Given the description of an element on the screen output the (x, y) to click on. 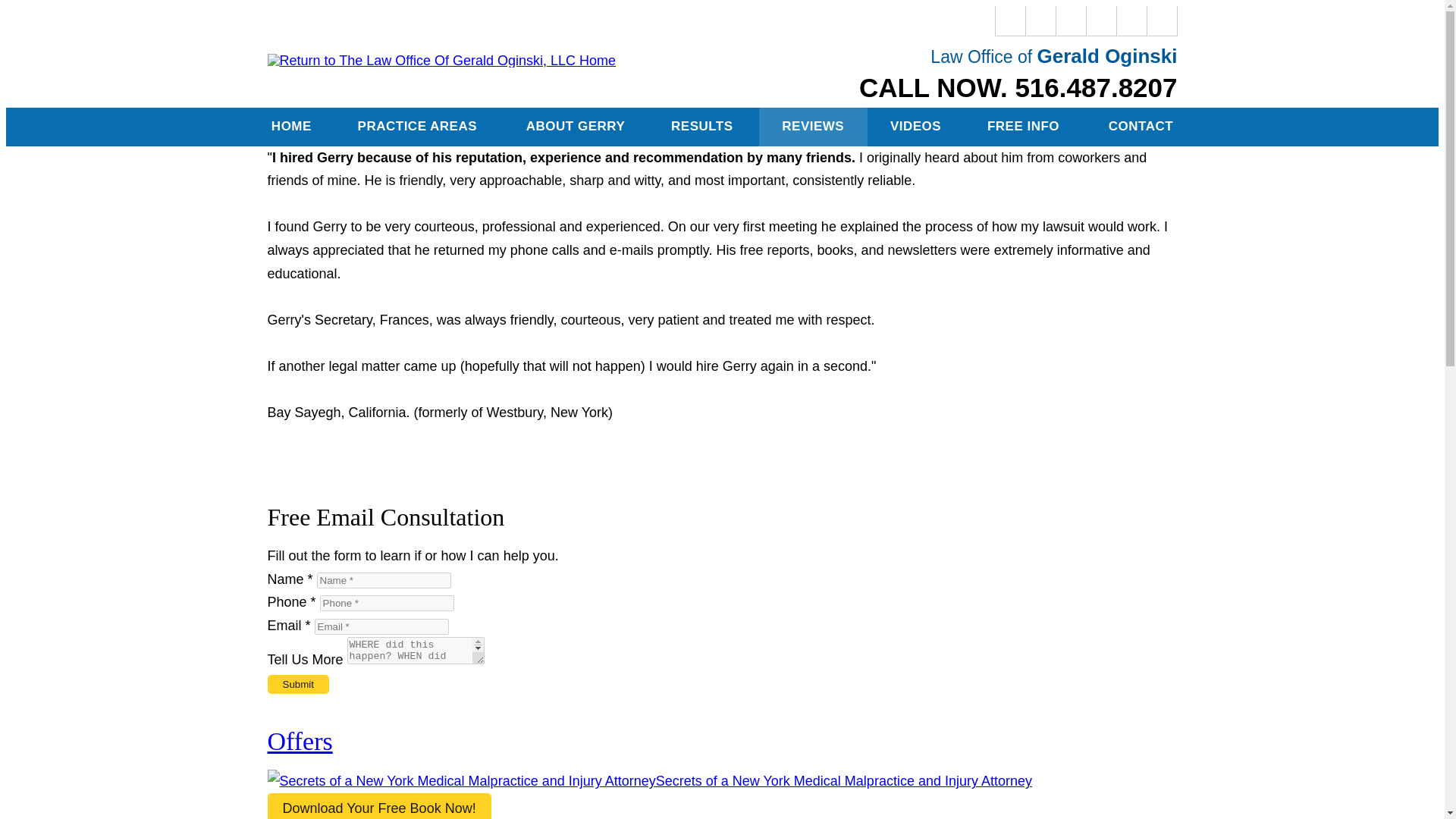
RESULTS (702, 126)
ABOUT GERRY (574, 126)
Search (1161, 20)
FREE INFO (1024, 126)
REVIEWS (812, 126)
PRACTICE AREAS (418, 126)
CONTACT (1139, 126)
HOME (291, 126)
